Given the description of an element on the screen output the (x, y) to click on. 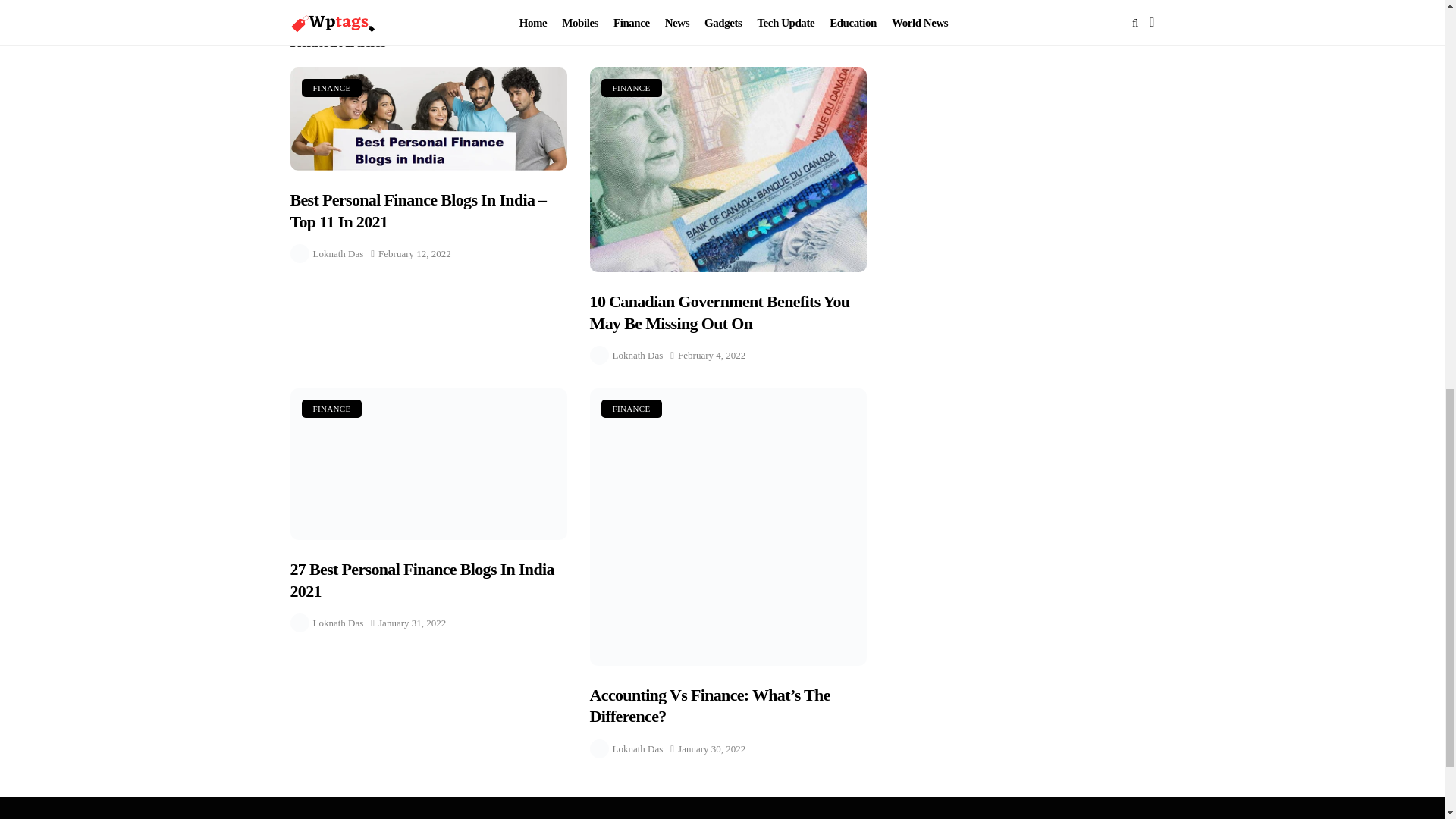
Posts by Loknath Das (404, 3)
Posts by Loknath Das (337, 622)
FINANCE (637, 748)
Posts by Loknath Das (751, 3)
FINANCE (631, 87)
Loknath Das (337, 253)
Posts by Loknath Das (331, 87)
10 Canadian Government Benefits You May Be Missing Out On (637, 354)
